Given the description of an element on the screen output the (x, y) to click on. 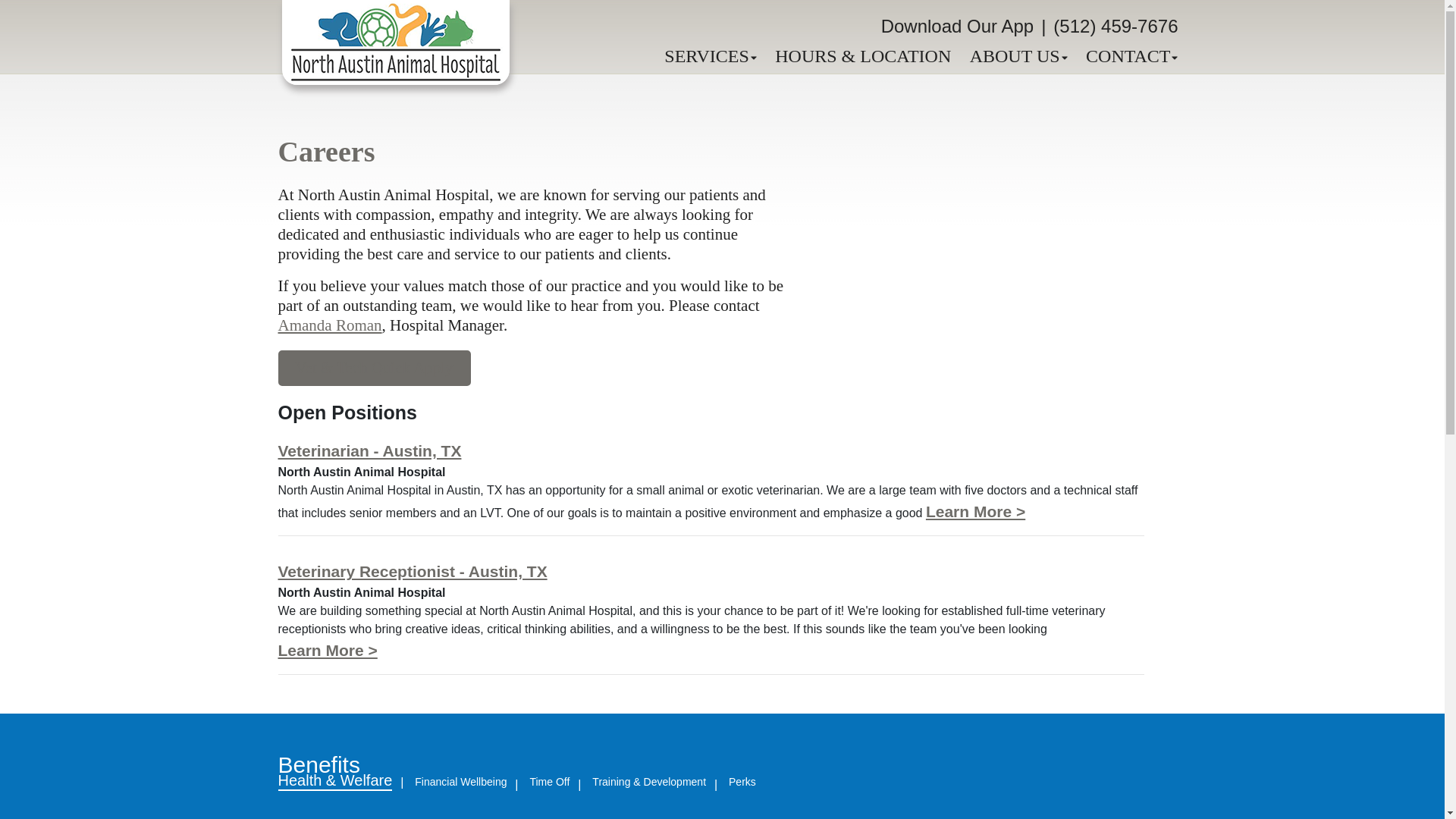
Download Our App (956, 26)
ABOUT US (1018, 55)
CONTACT (1131, 55)
SERVICES (709, 55)
